Given the description of an element on the screen output the (x, y) to click on. 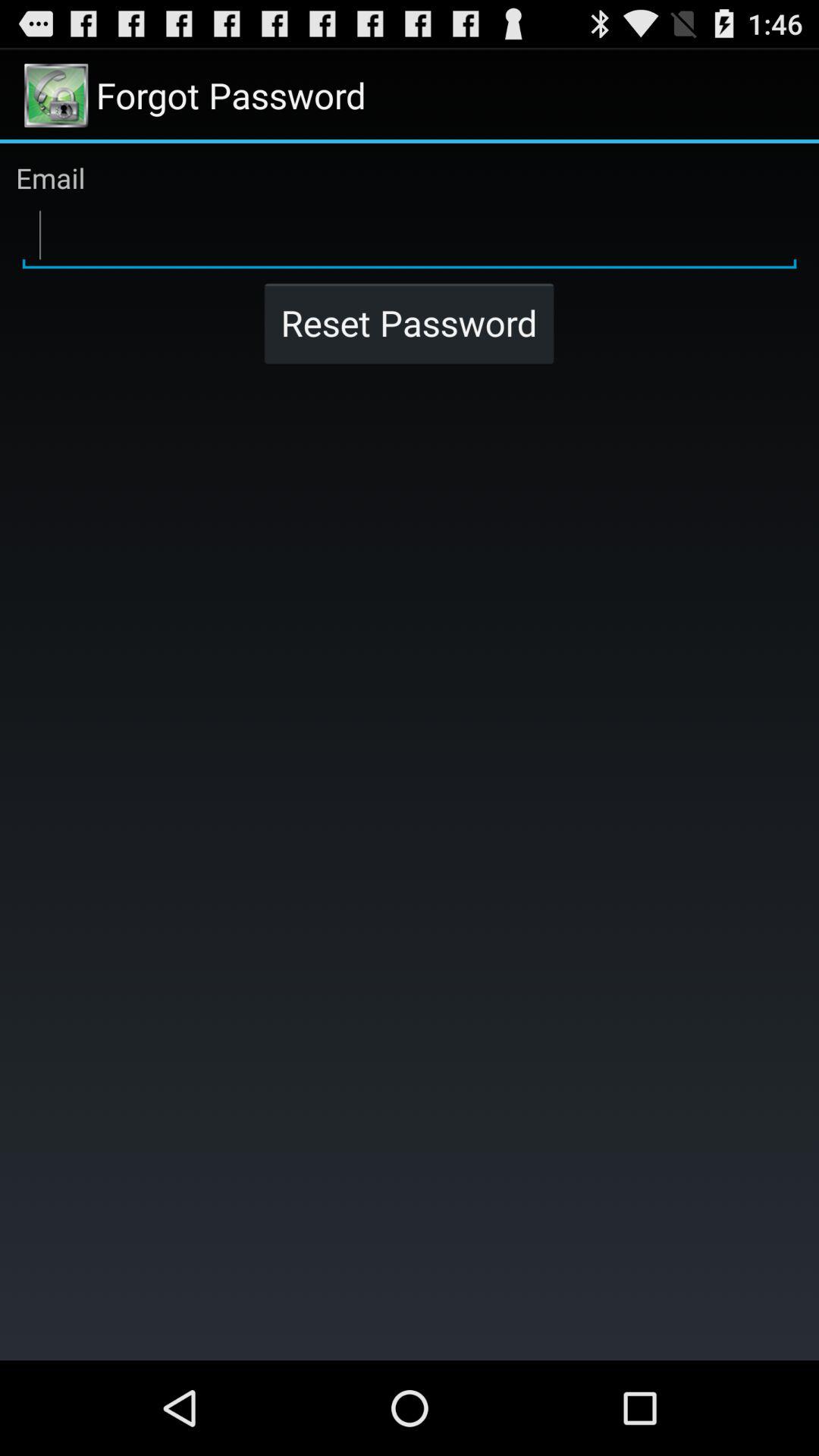
enter email (409, 235)
